Given the description of an element on the screen output the (x, y) to click on. 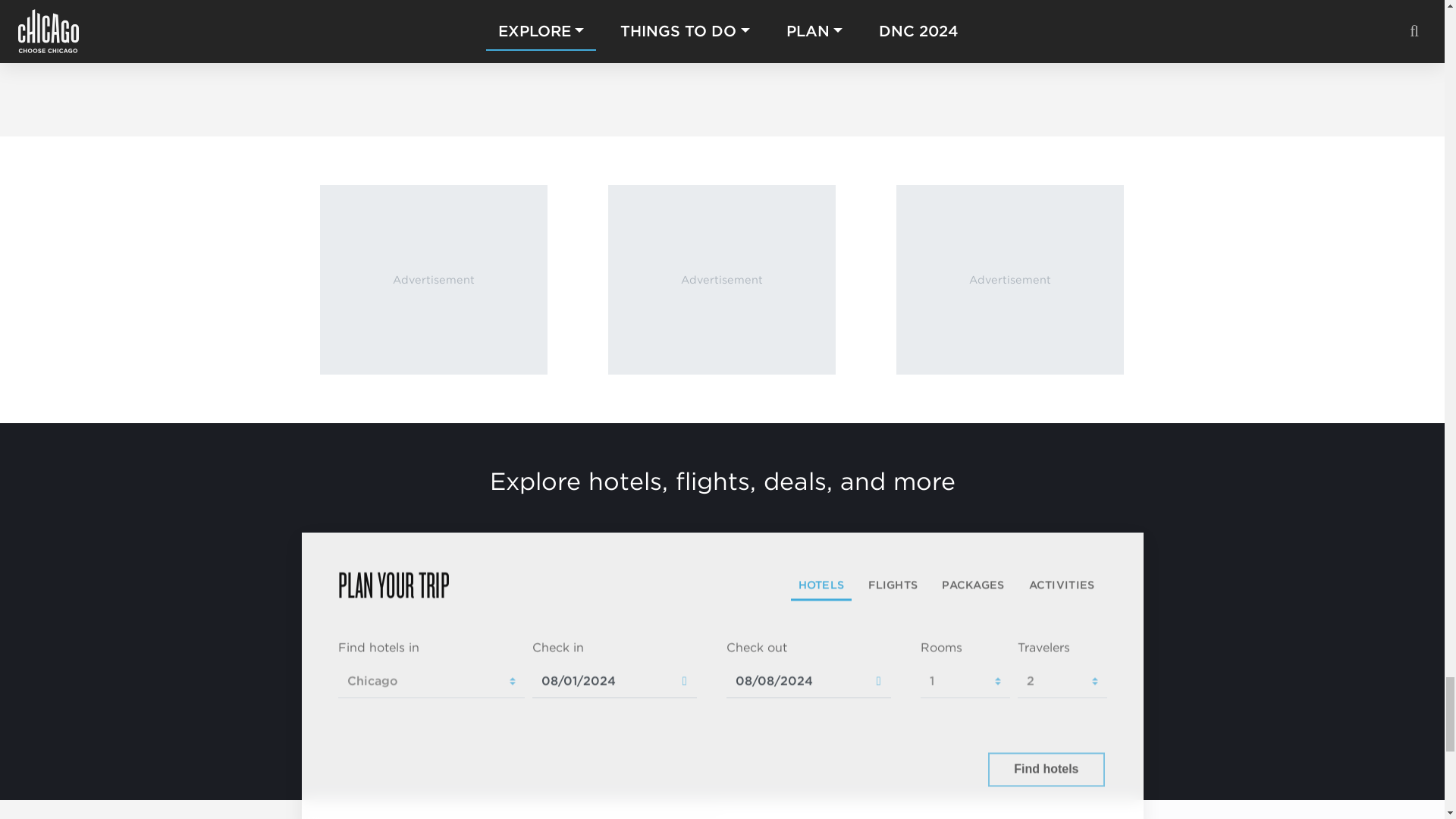
Powered by Expedia (917, 770)
